Given the description of an element on the screen output the (x, y) to click on. 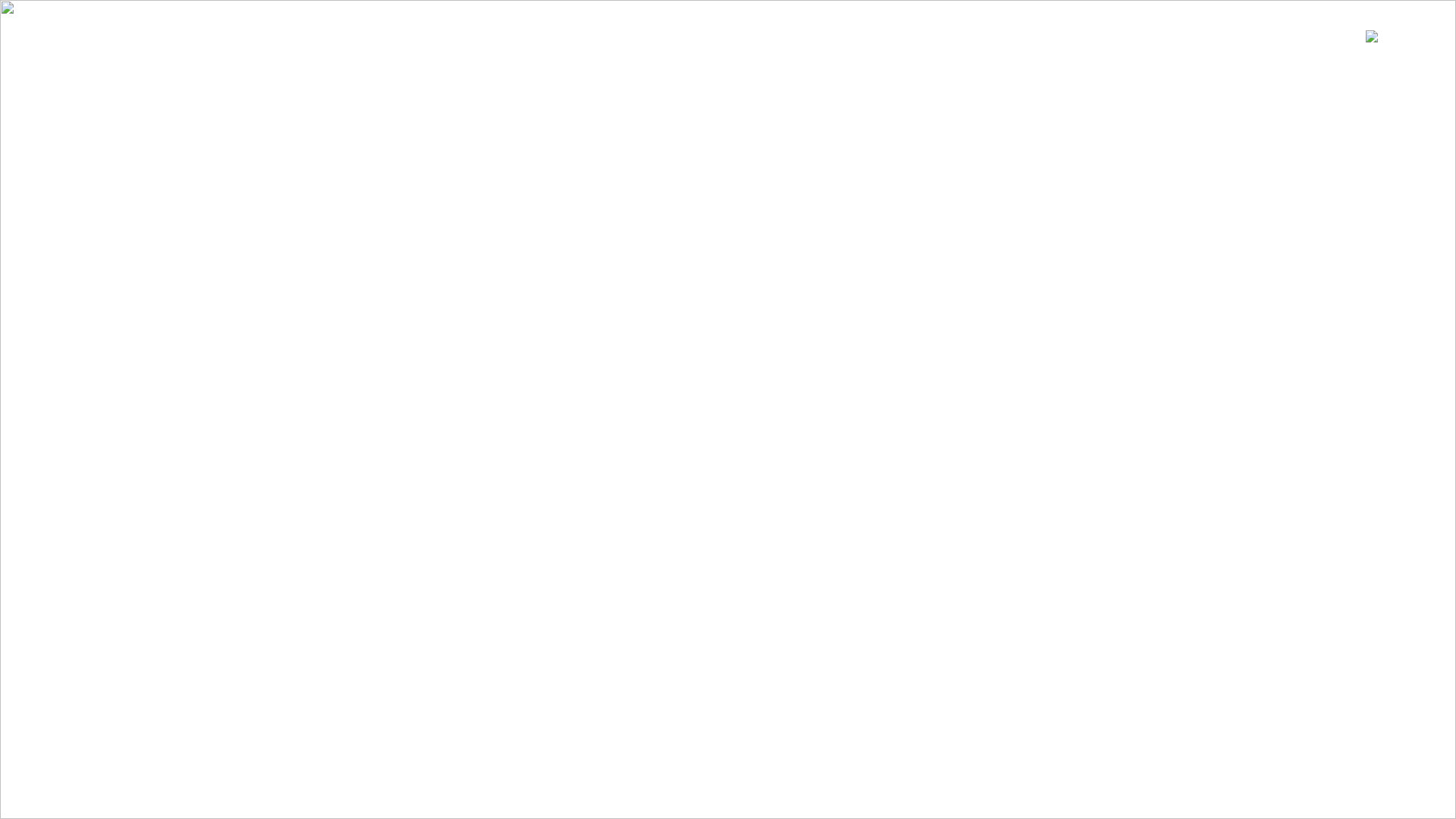
Contact Element type: text (51, 116)
En Element type: text (1418, 36)
Fr Element type: text (1395, 36)
Collaborations Element type: text (69, 77)
Films Element type: text (44, 97)
Works Element type: text (46, 57)
Atelier Element type: text (48, 37)
